Given the description of an element on the screen output the (x, y) to click on. 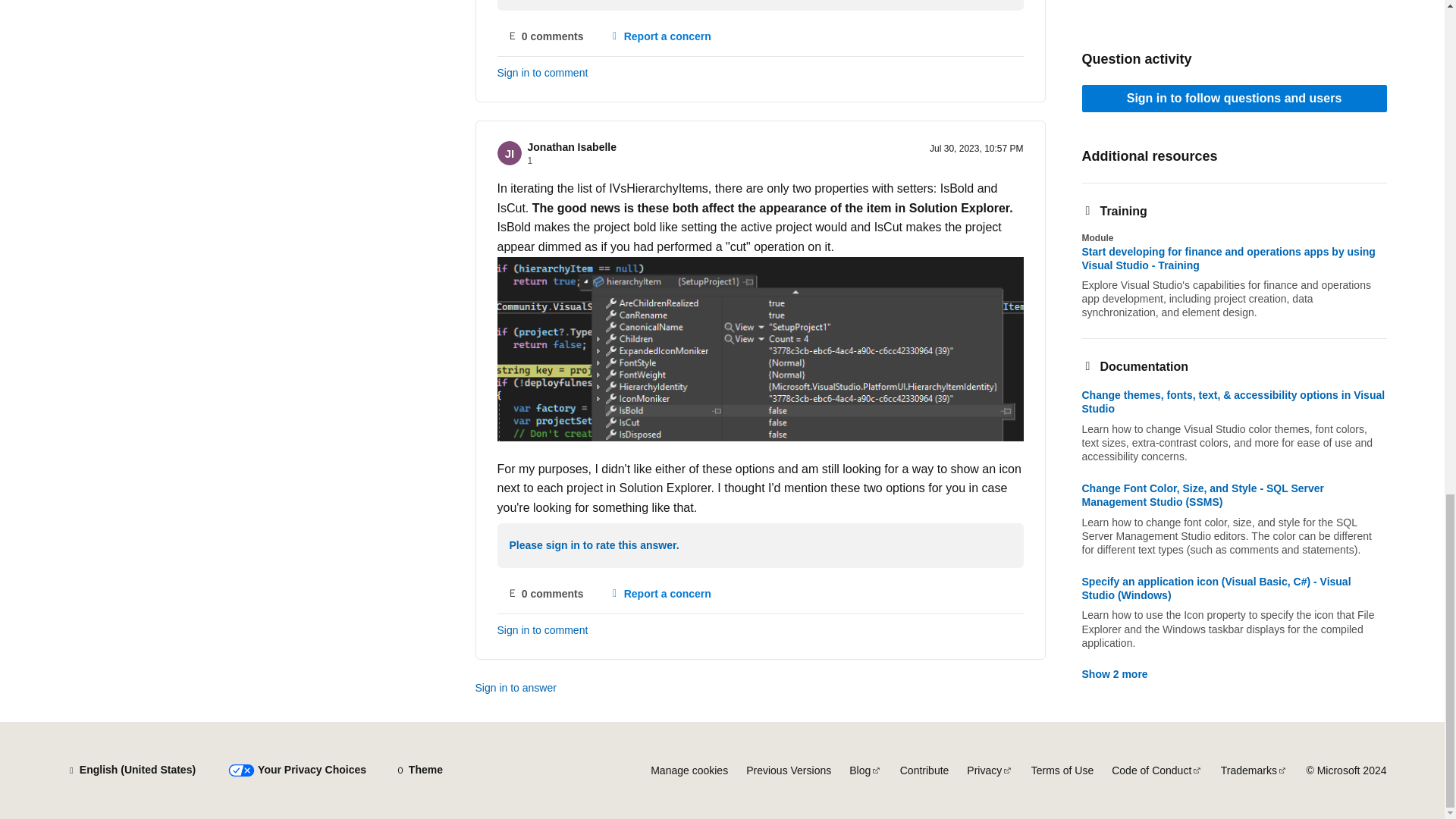
No comments (545, 35)
Report a concern (659, 35)
No comments (545, 593)
Report a concern (659, 593)
